Given the description of an element on the screen output the (x, y) to click on. 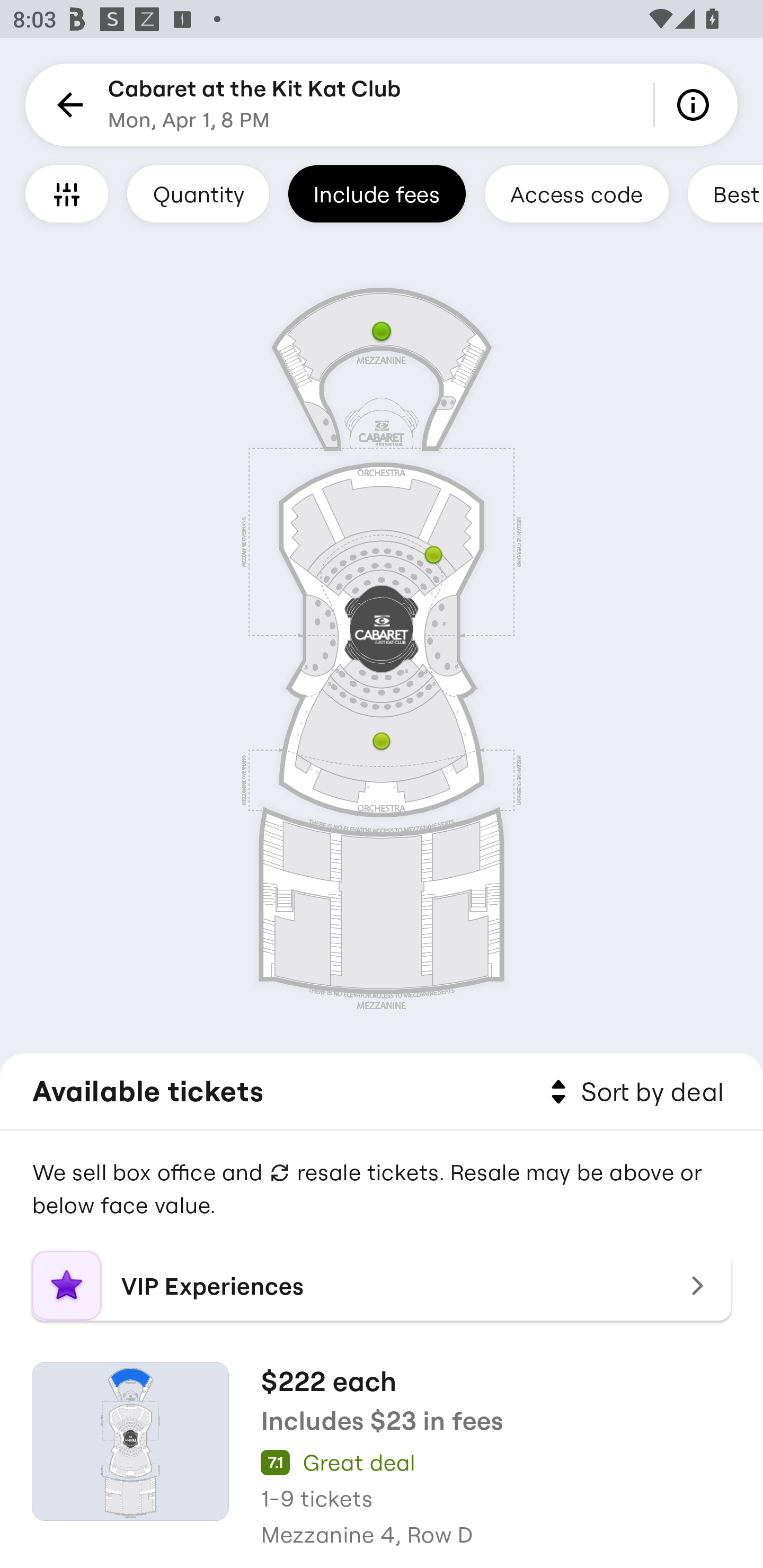
Back (66, 104)
Cabaret at the Kit Kat Club Mon, Apr 1, 8 PM (254, 104)
Info (695, 104)
Filters and Accessible Seating (66, 193)
Quantity (198, 193)
Include fees (376, 193)
Access code (576, 193)
Sort by deal (633, 1091)
VIP Experiences (381, 1285)
